Given the description of an element on the screen output the (x, y) to click on. 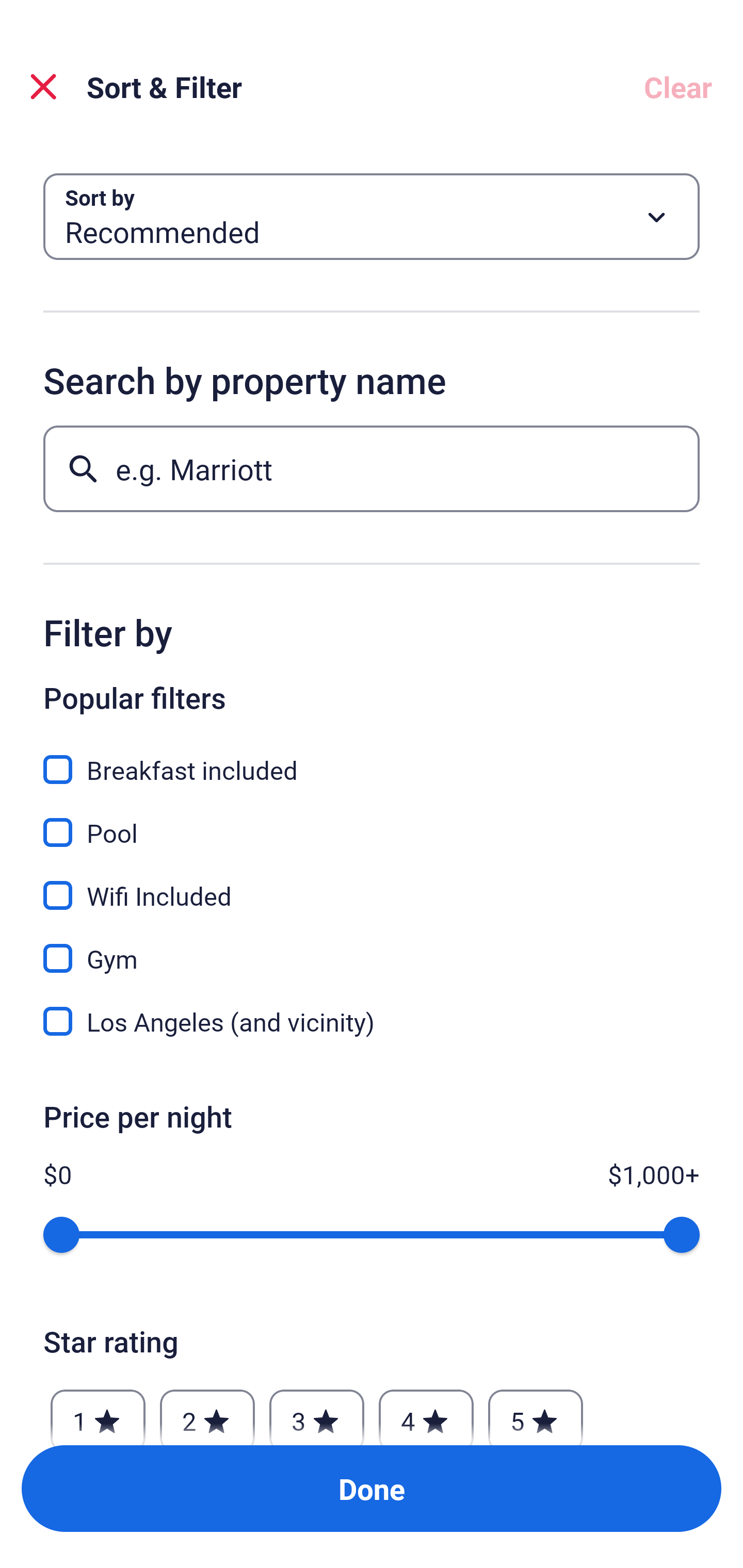
Close Sort and Filter (43, 86)
Clear (677, 86)
Sort by Button Recommended (371, 217)
e.g. Marriott Button (371, 468)
Breakfast included, Breakfast included (371, 757)
Pool, Pool (371, 821)
Wifi Included, Wifi Included (371, 883)
Gym, Gym (371, 946)
1 (97, 1411)
2 (206, 1411)
3 (316, 1411)
4 (426, 1411)
5 (535, 1411)
Apply and close Sort and Filter Done (371, 1488)
